Given the description of an element on the screen output the (x, y) to click on. 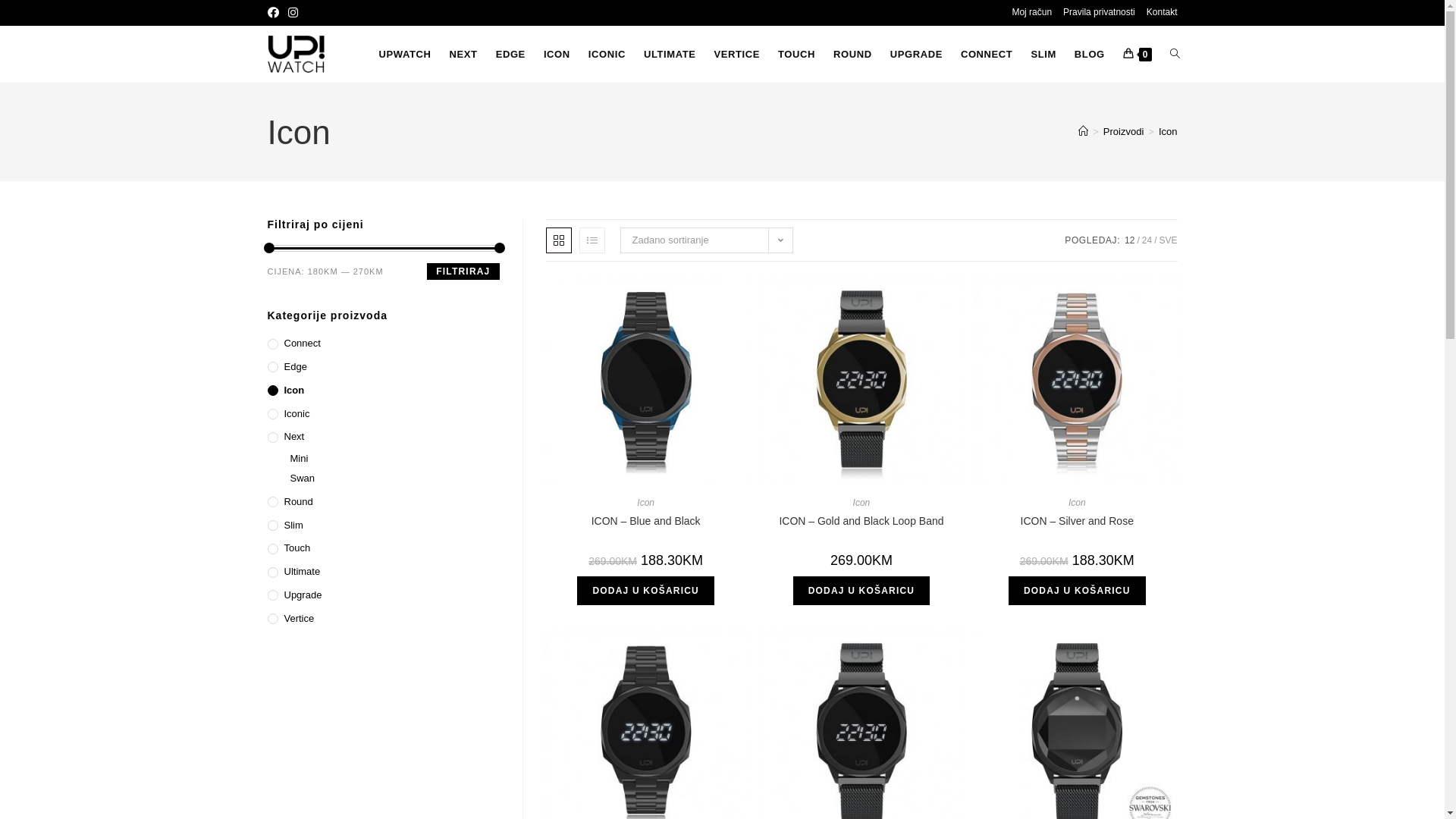
Icon Element type: text (645, 502)
FILTRIRAJ Element type: text (462, 271)
UPWATCH Element type: text (405, 54)
Touch Element type: text (382, 548)
Ultimate Element type: text (382, 572)
Icon Element type: text (1076, 502)
Icon Element type: text (1167, 131)
Next Element type: text (382, 437)
VERTICE Element type: text (737, 54)
ICON Element type: text (556, 54)
Edge Element type: text (382, 367)
ULTIMATE Element type: text (669, 54)
Mini Element type: text (393, 459)
Iconic Element type: text (382, 414)
Kontakt Element type: text (1161, 12)
SLIM Element type: text (1042, 54)
TOUCH Element type: text (796, 54)
24 Element type: text (1146, 240)
Icon Element type: text (382, 390)
NEXT Element type: text (463, 54)
BLOG Element type: text (1089, 54)
12 Element type: text (1129, 240)
ICONIC Element type: text (606, 54)
Round Element type: text (382, 502)
Upgrade Element type: text (382, 595)
Prikaz popisa Element type: hover (592, 240)
Slim Element type: text (382, 525)
CONNECT Element type: text (986, 54)
0 Element type: text (1137, 54)
EDGE Element type: text (510, 54)
UPGRADE Element type: text (916, 54)
Icon Element type: text (861, 502)
ROUND Element type: text (852, 54)
Proizvodi Element type: text (1123, 131)
SVE Element type: text (1167, 240)
Swan Element type: text (393, 478)
Vertice Element type: text (382, 619)
Pravila privatnosti Element type: text (1099, 12)
Connect Element type: text (382, 343)
